Given the description of an element on the screen output the (x, y) to click on. 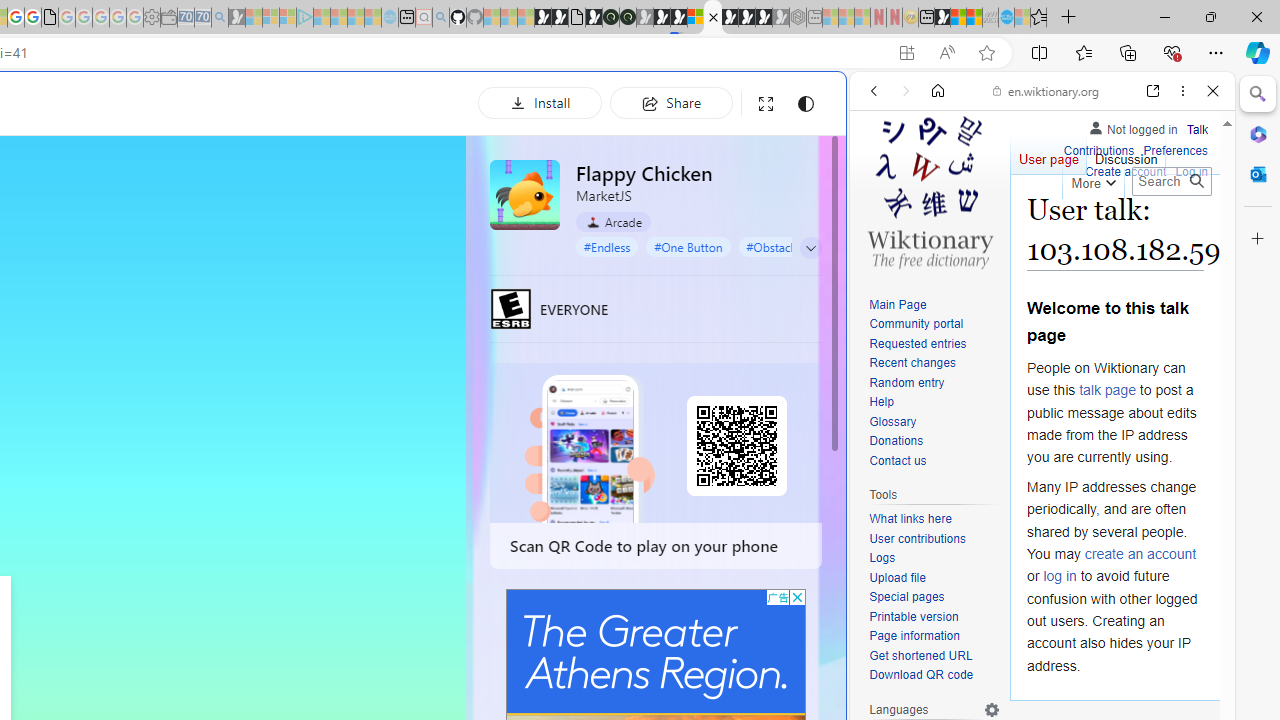
Arcade (613, 222)
Wiktionary (1034, 669)
Requested entries (934, 344)
Create account (1125, 169)
User contributions (934, 539)
Search Filter, IMAGES (939, 228)
#Obstacle Course (792, 246)
Recent changes (934, 363)
#One Button (688, 246)
